Given the description of an element on the screen output the (x, y) to click on. 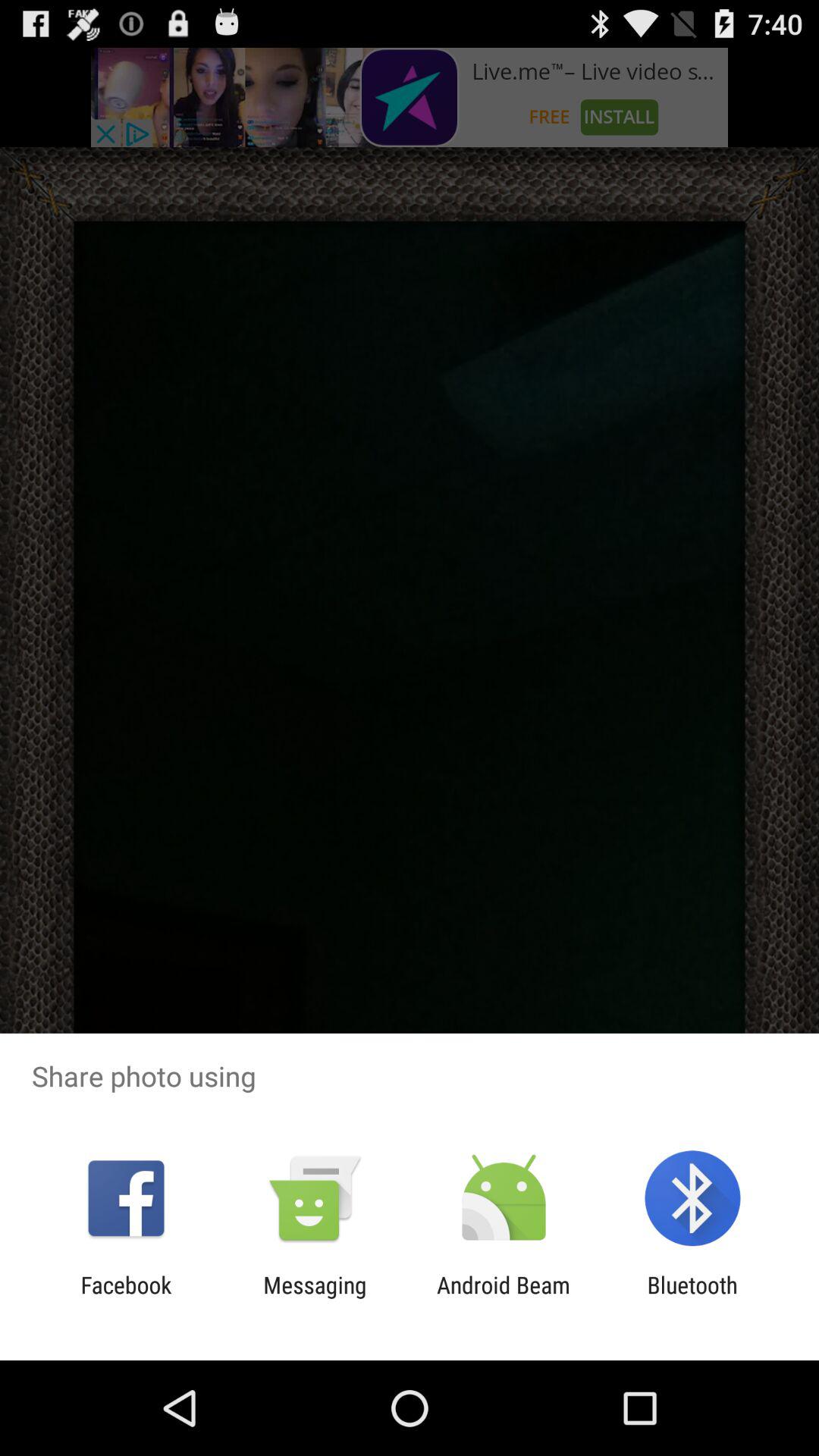
turn off icon to the left of android beam (314, 1298)
